Given the description of an element on the screen output the (x, y) to click on. 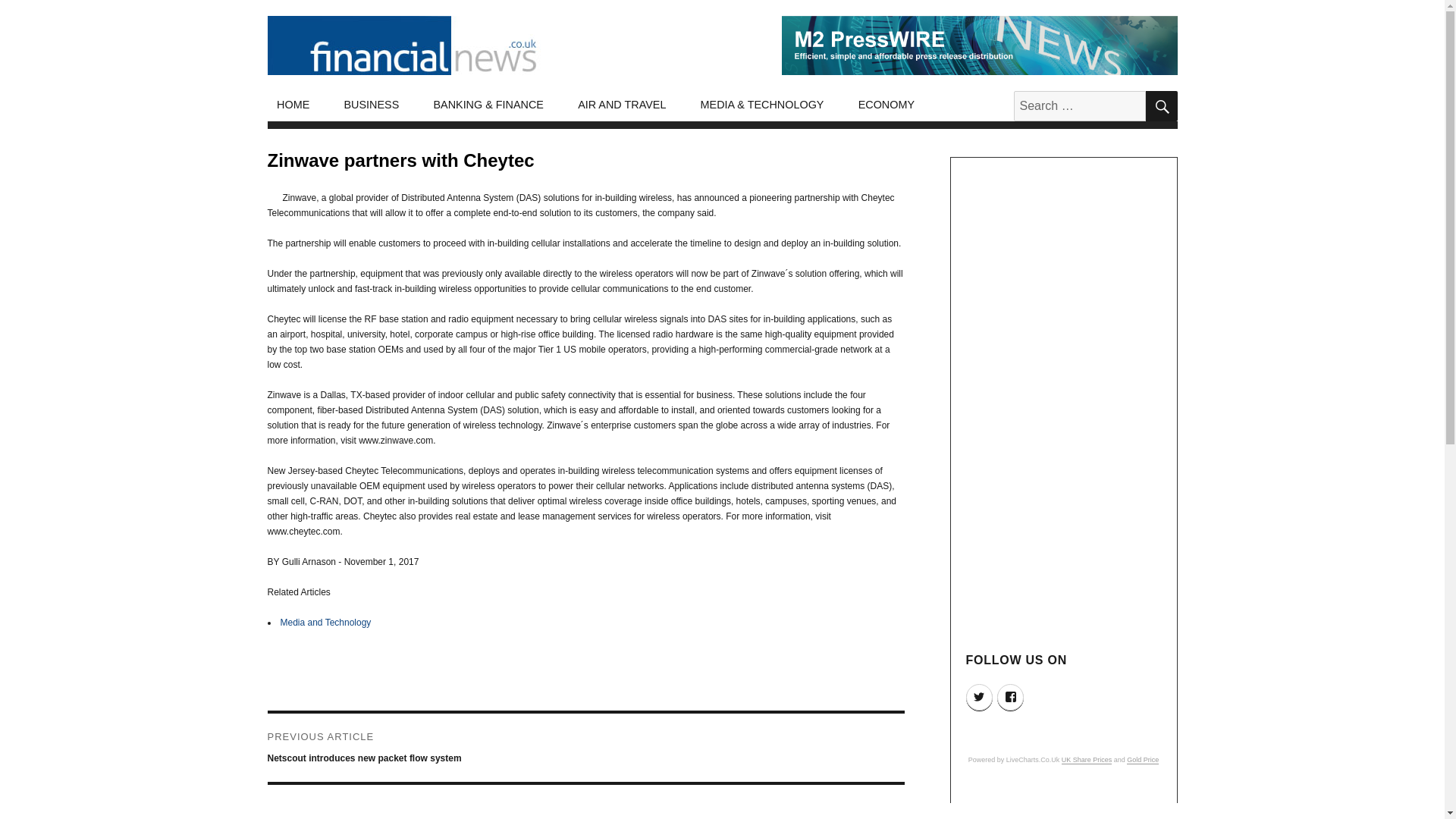
TWITTER (979, 696)
Advertisement (1065, 804)
Media and Technology (326, 622)
BUSINESS (371, 104)
UK Share Prices (1086, 759)
AIR AND TRAVEL (622, 104)
Gold Price (1142, 759)
HOME (292, 104)
